Given the description of an element on the screen output the (x, y) to click on. 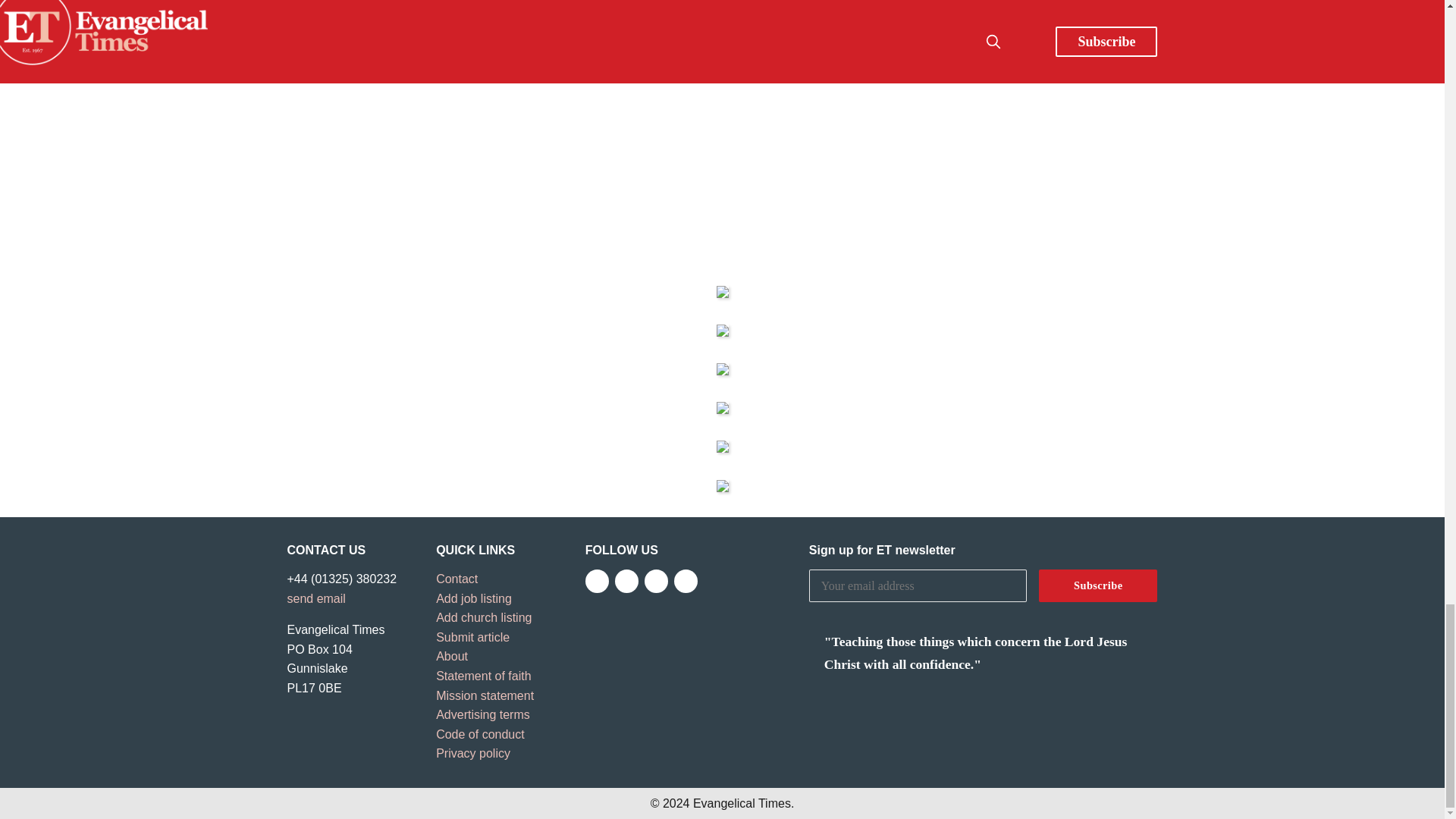
Instagram (656, 580)
Twitter (626, 580)
Linkedin (685, 580)
Facebook (596, 580)
